Given the description of an element on the screen output the (x, y) to click on. 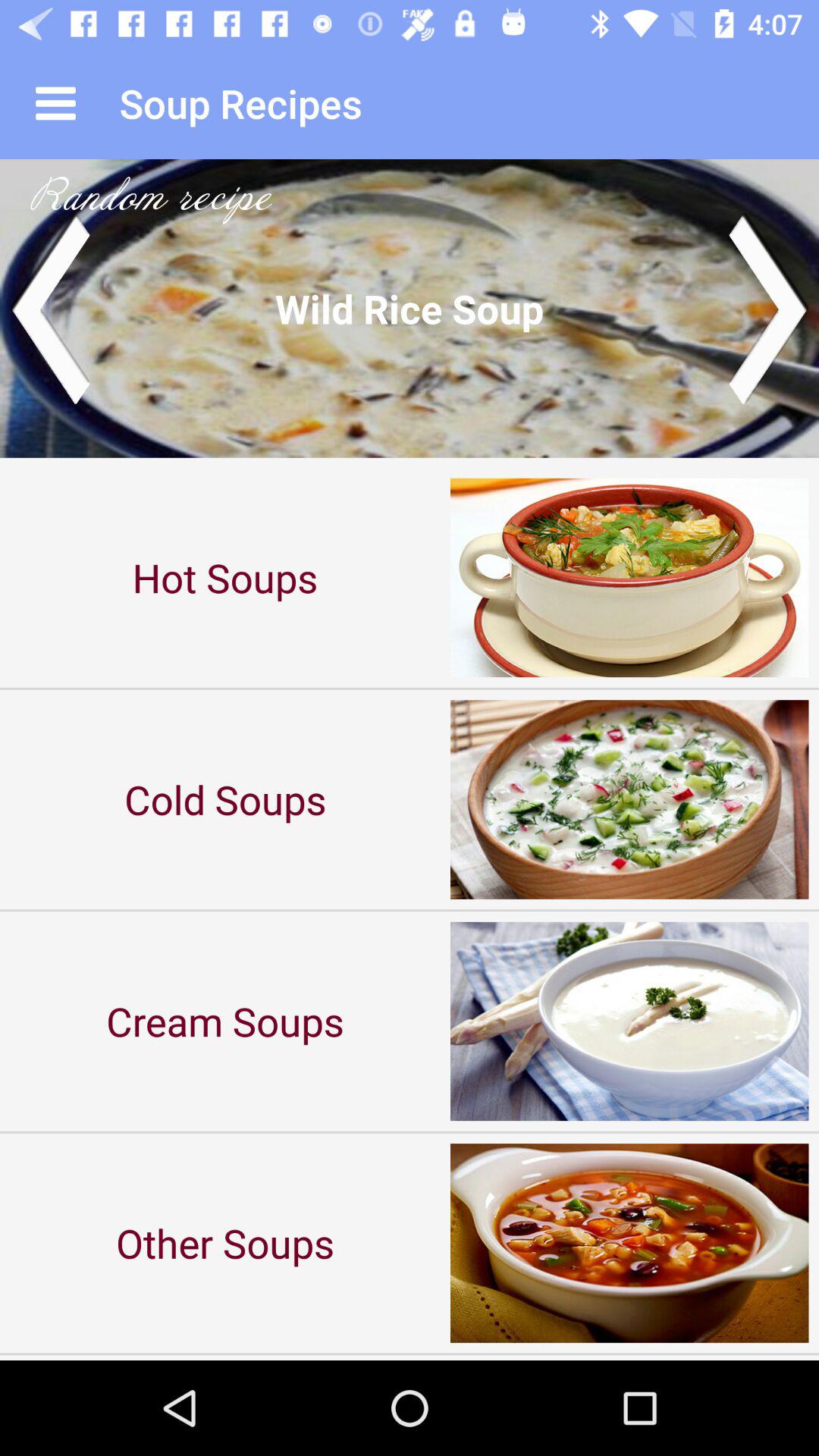
turn off the item above the cream soups (225, 798)
